Given the description of an element on the screen output the (x, y) to click on. 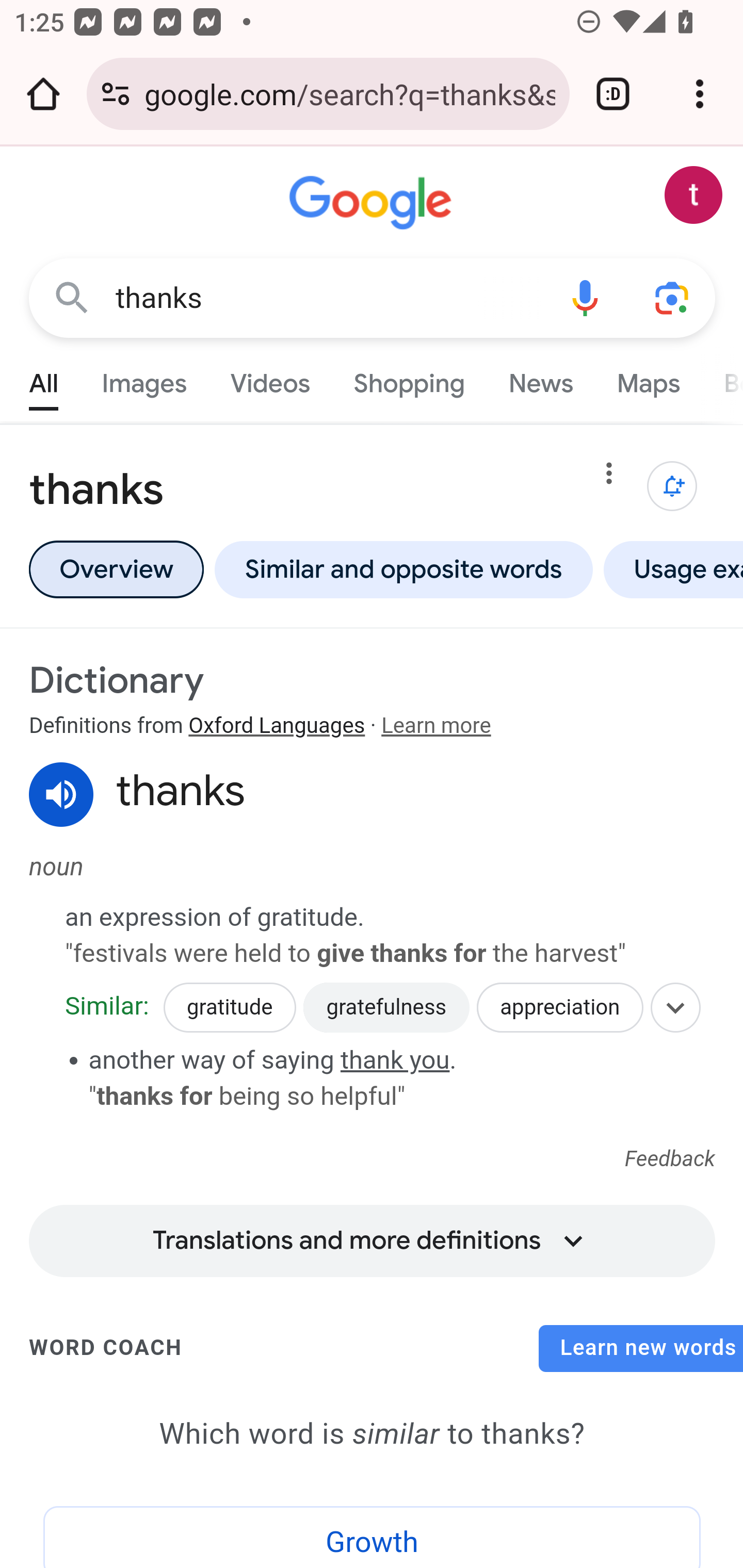
Open the home page (43, 93)
Connection is secure (115, 93)
Switch or close tabs (612, 93)
Customize and control Google Chrome (699, 93)
Google (372, 203)
Google Search (71, 296)
Search using your camera or photos (672, 296)
thanks (328, 297)
Images (144, 378)
Videos (270, 378)
Shopping (408, 378)
News (540, 378)
Maps (647, 378)
Get notifications about Word of the day (672, 485)
More options (609, 477)
Overview (116, 569)
Similar and opposite words (403, 569)
Usage examples (670, 569)
Oxford Languages (276, 726)
Learn more (435, 726)
 Listen  (61, 794)
gratitude (229, 1007)
appreciation (560, 1007)
thank you (395, 1058)
Feedback (669, 1160)
Translations and more definitions (371, 1233)
Growth (372, 1536)
